Given the description of an element on the screen output the (x, y) to click on. 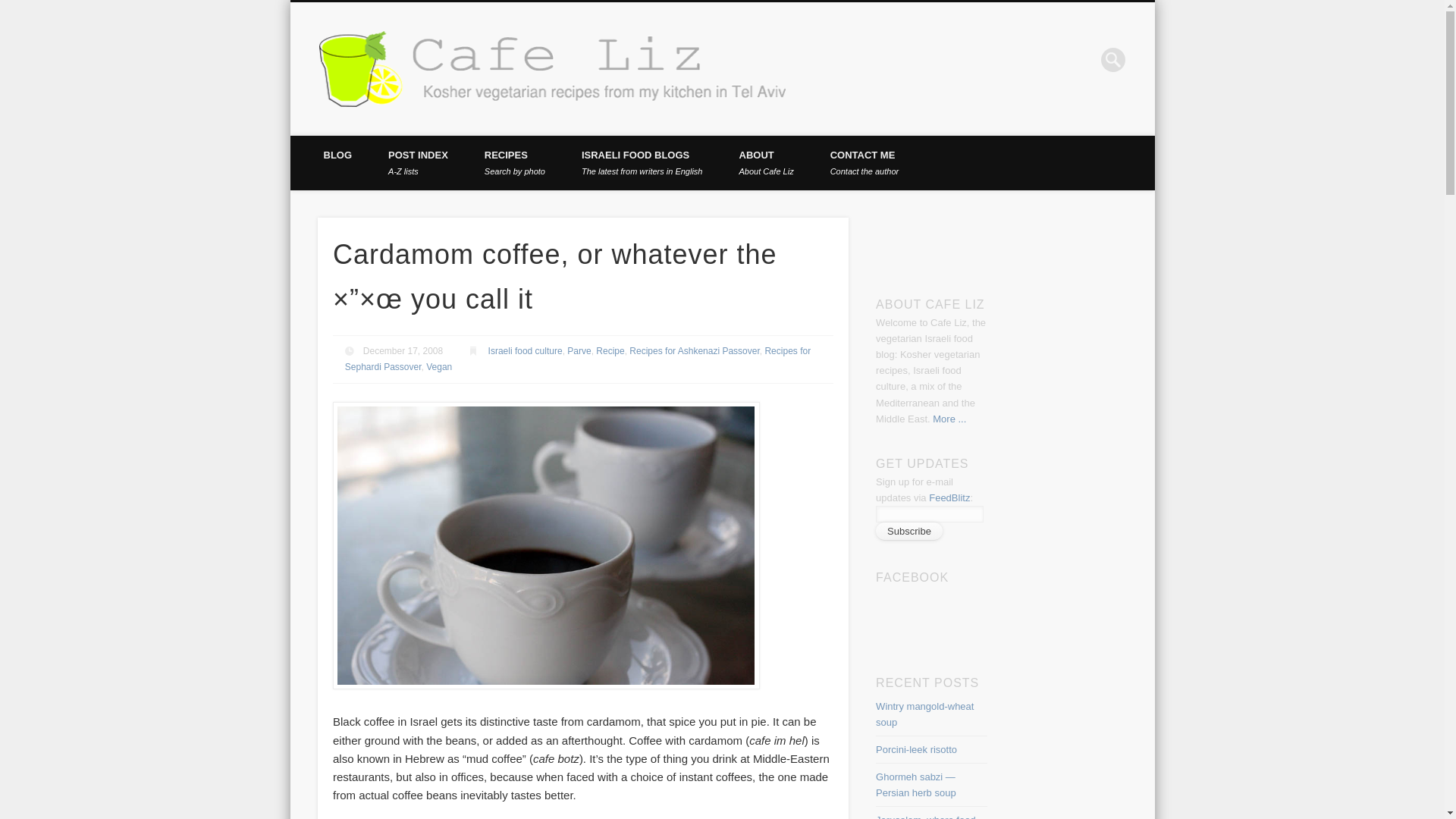
Recipes for Ashkenazi Passover (693, 350)
Vegan (438, 366)
Search (11, 7)
Israeli food culture (514, 162)
Recipes for Sephardi Passover (641, 162)
Cafe Liz (524, 350)
Parve (577, 358)
black-coffee (864, 162)
Subscribe (877, 59)
Recipe (417, 162)
